Given the description of an element on the screen output the (x, y) to click on. 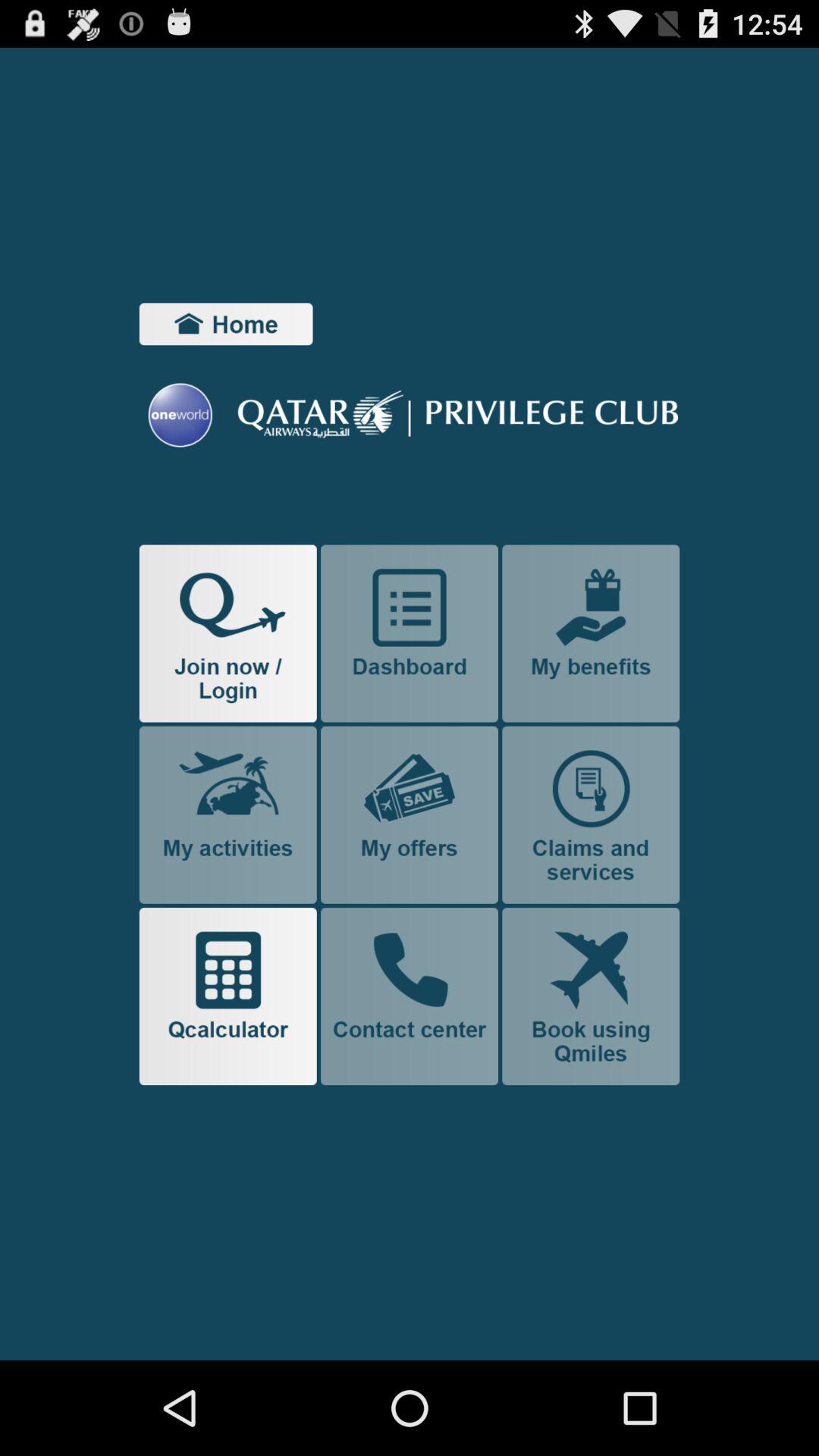
home button (225, 324)
